Given the description of an element on the screen output the (x, y) to click on. 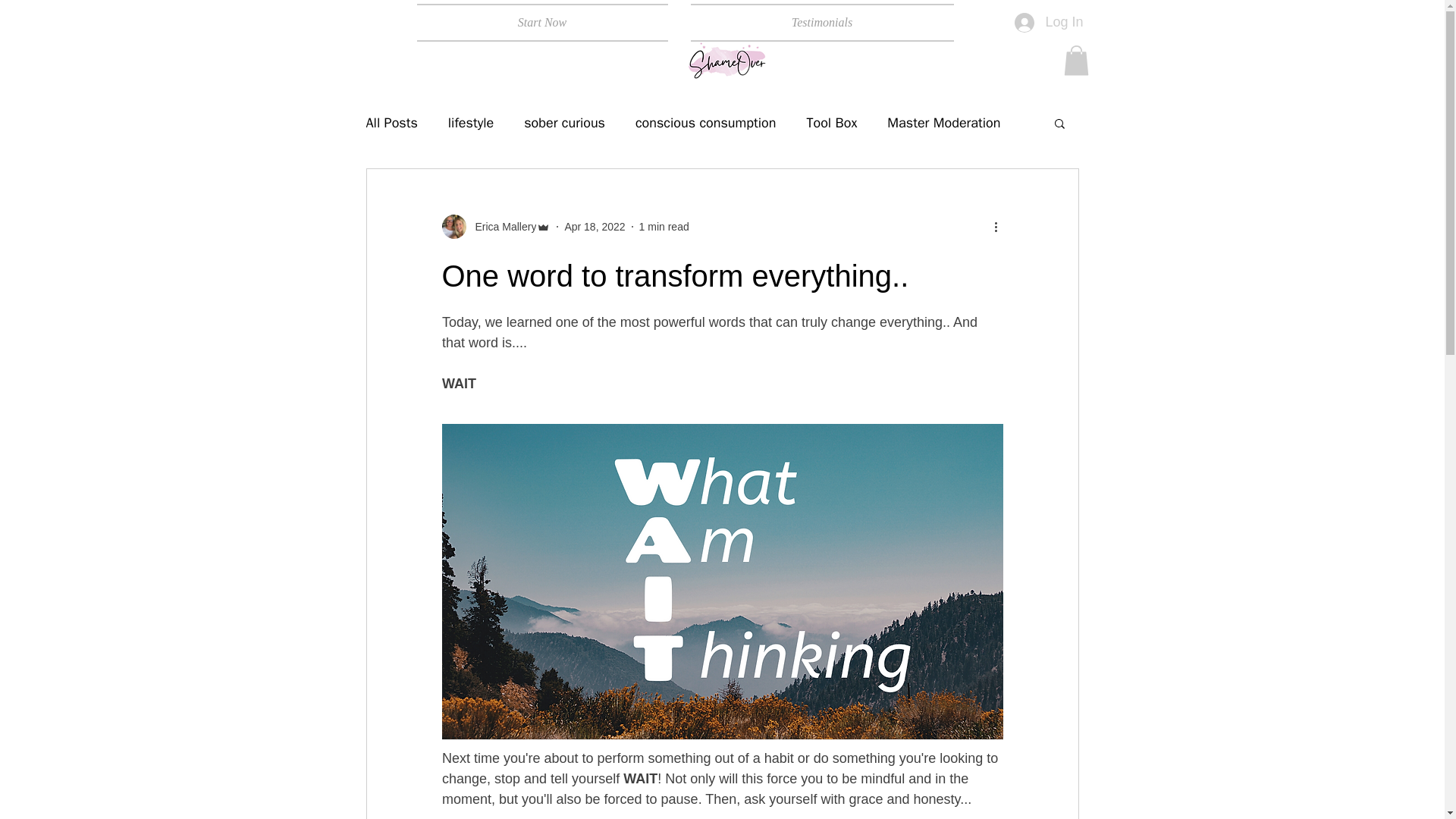
sober curious (564, 122)
Master Moderation (943, 122)
Testimonials (816, 22)
All Posts (390, 122)
Tool Box (831, 122)
Start Now (547, 22)
lifestyle (470, 122)
Erica Mallery (495, 226)
1 min read (663, 226)
Erica Mallery (500, 227)
conscious consumption (705, 122)
Apr 18, 2022 (594, 226)
Log In (1048, 22)
